Given the description of an element on the screen output the (x, y) to click on. 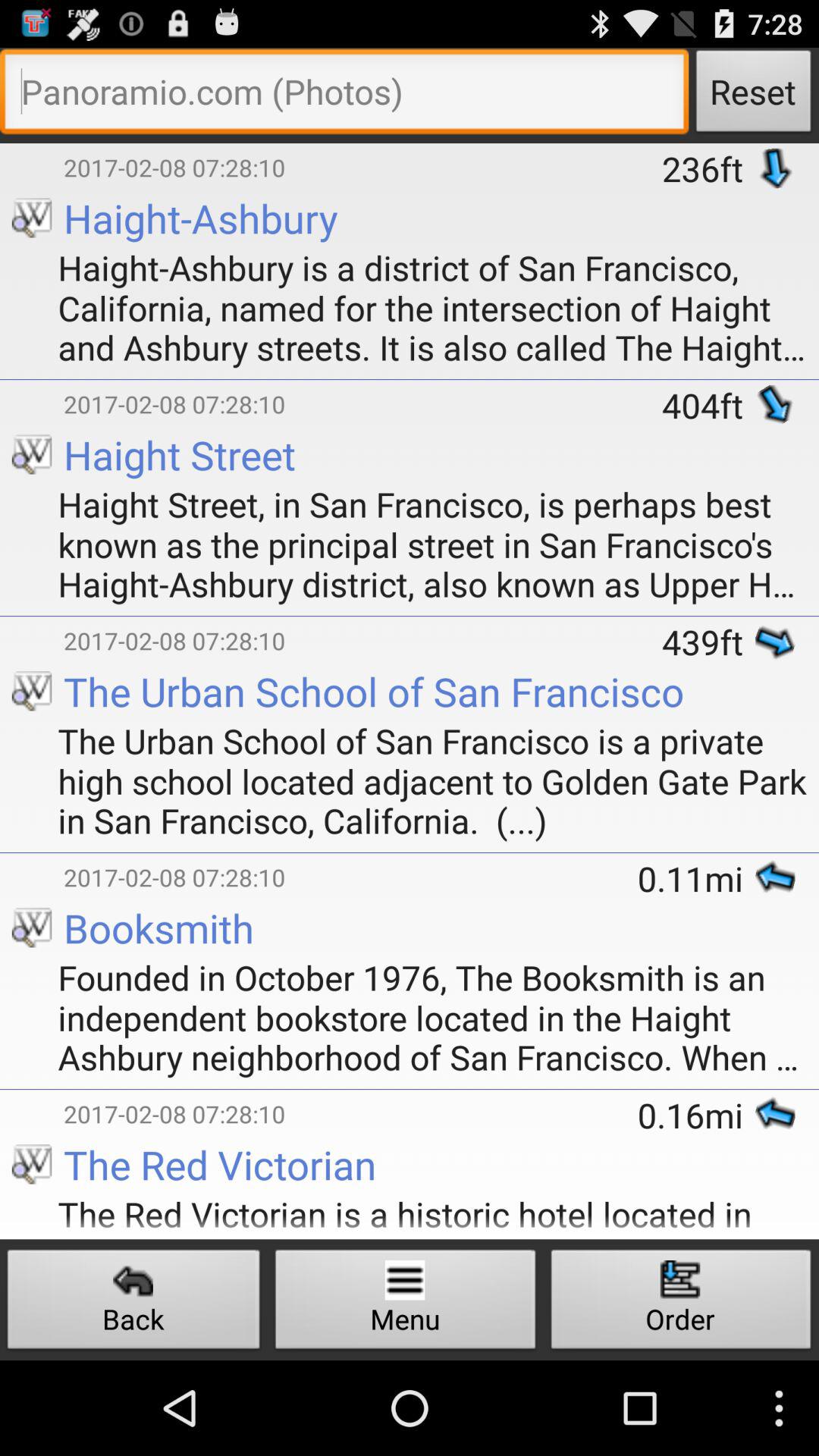
launch the icon next to haight street in icon (31, 618)
